Given the description of an element on the screen output the (x, y) to click on. 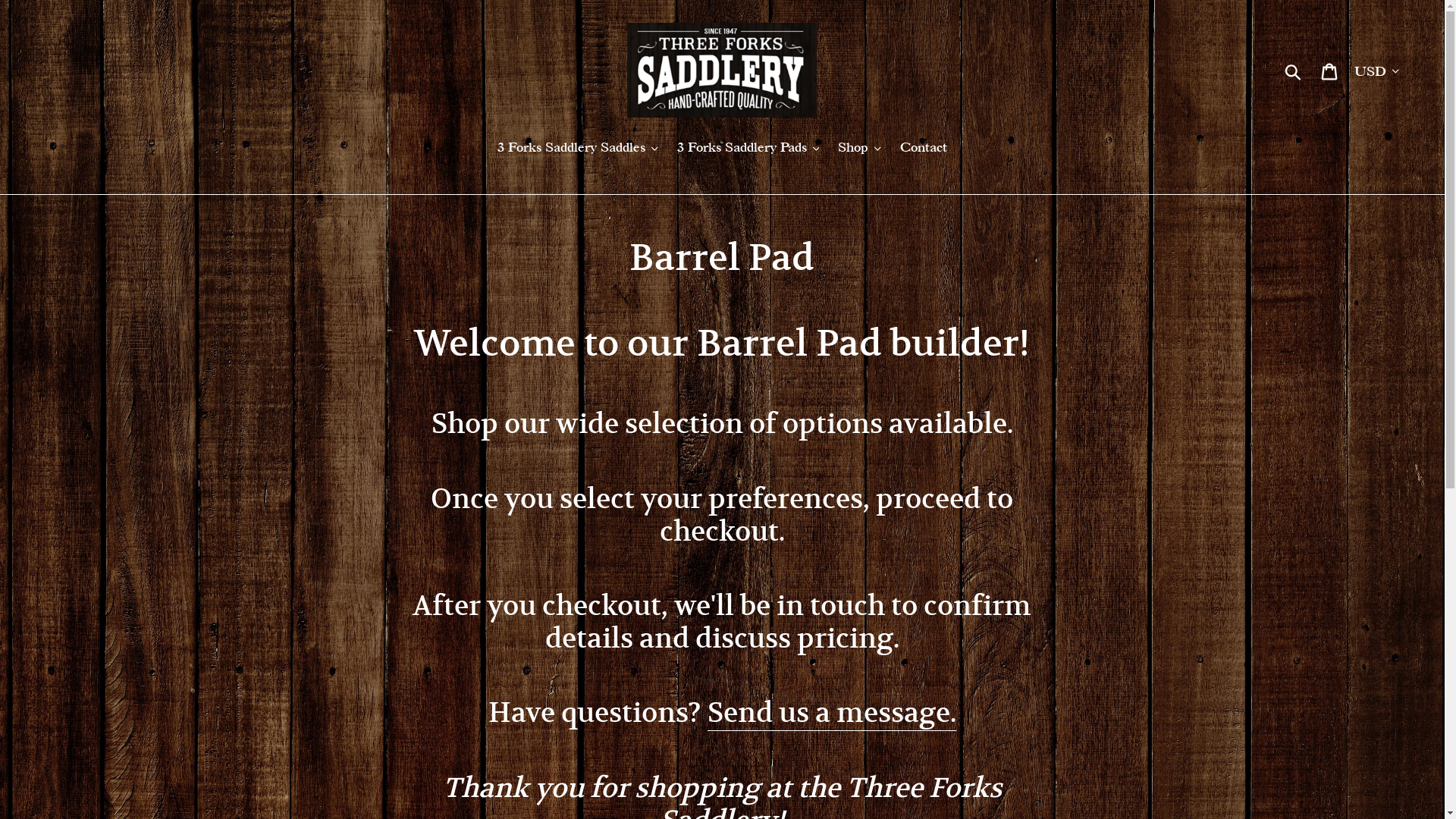
Cart Element type: text (1330, 69)
Contact Element type: text (923, 148)
Send us a message. Element type: text (831, 713)
Submit Element type: text (1293, 69)
